Given the description of an element on the screen output the (x, y) to click on. 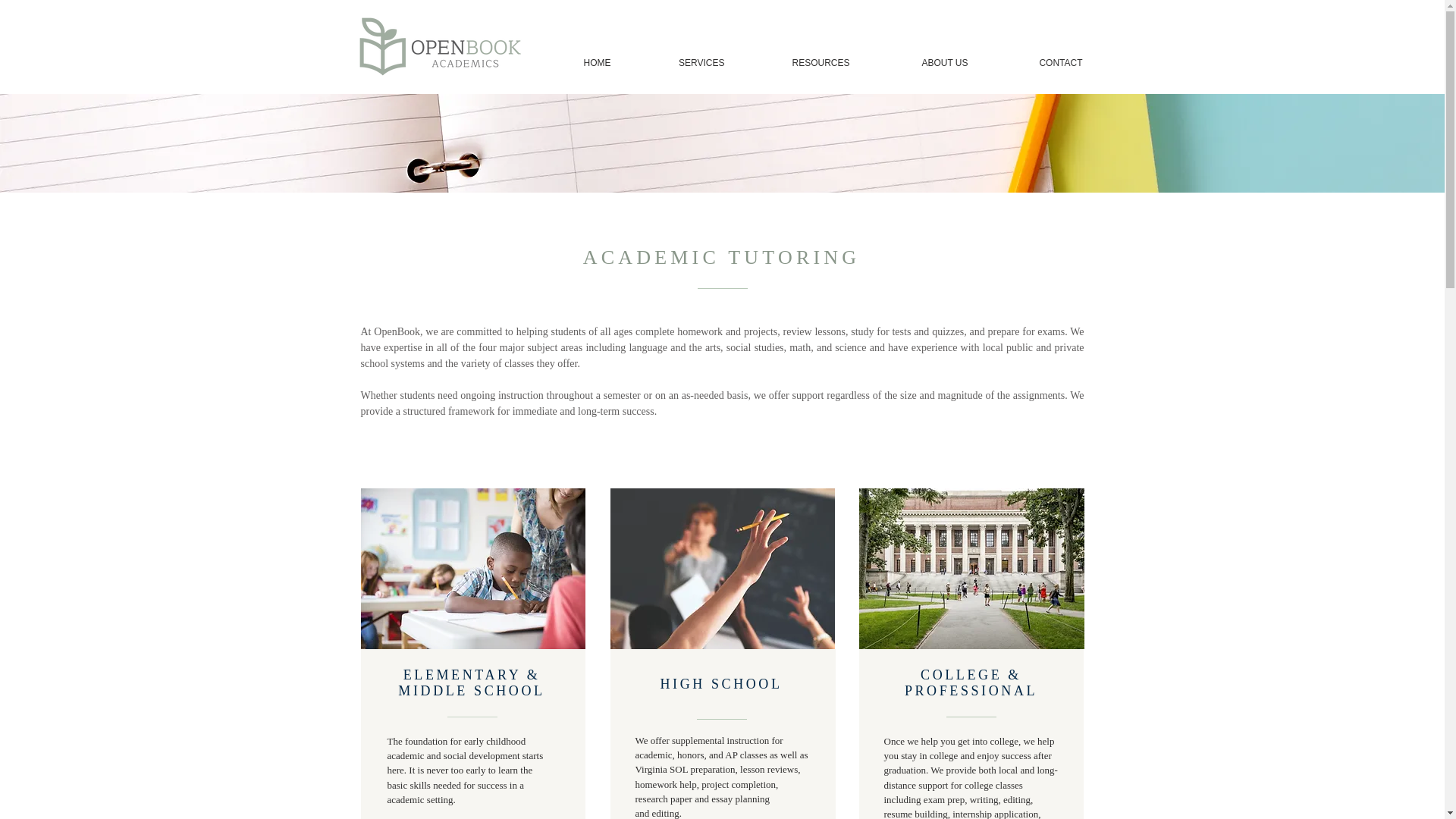
SERVICES (678, 63)
HOME (572, 63)
CONTACT (1036, 63)
ABOUT US (920, 63)
College Campus (971, 568)
In the Classroom (722, 568)
In the Classroom (473, 568)
RESOURCES (797, 63)
